Given the description of an element on the screen output the (x, y) to click on. 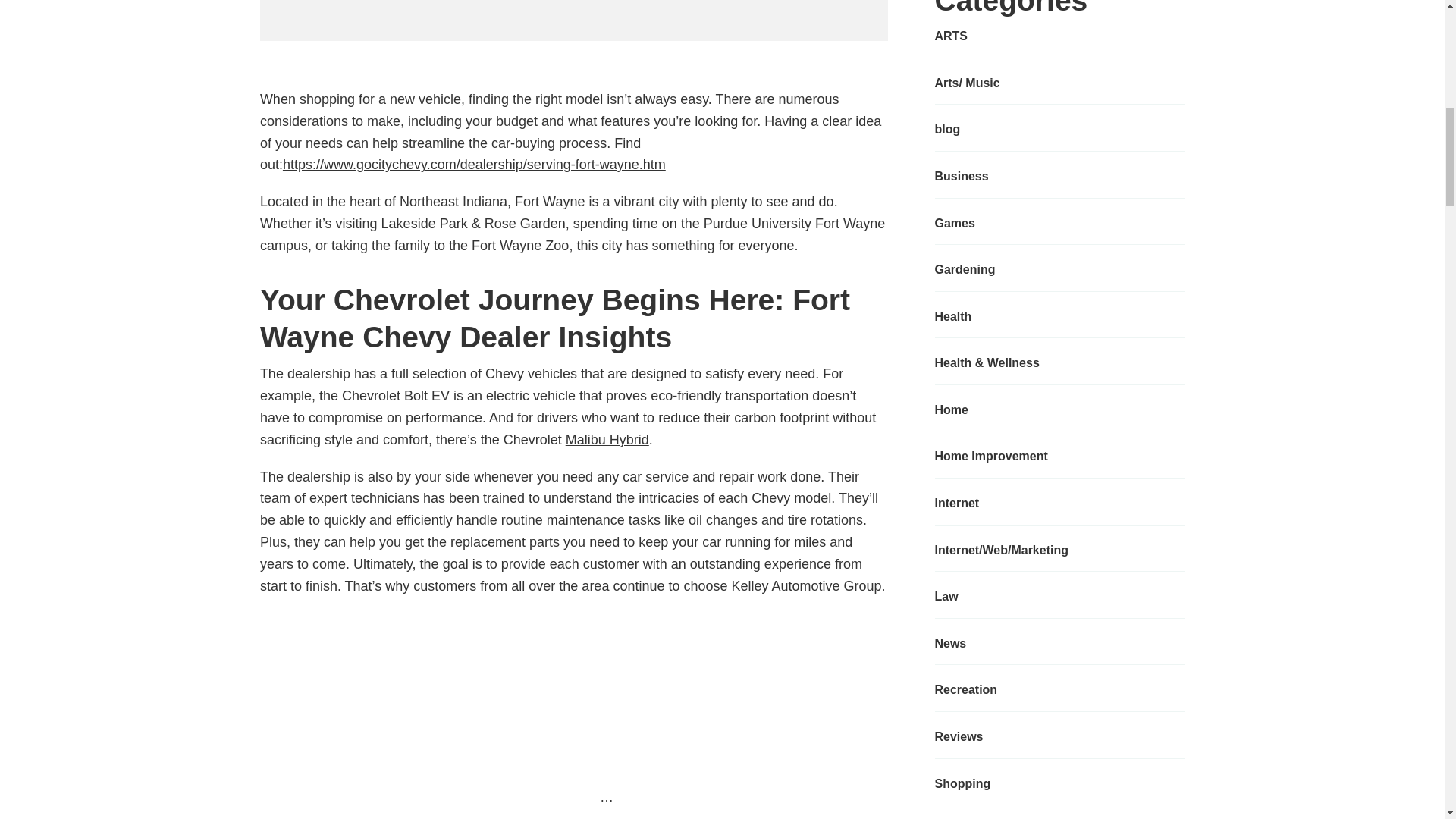
Malibu Hybrid (607, 439)
